Given the description of an element on the screen output the (x, y) to click on. 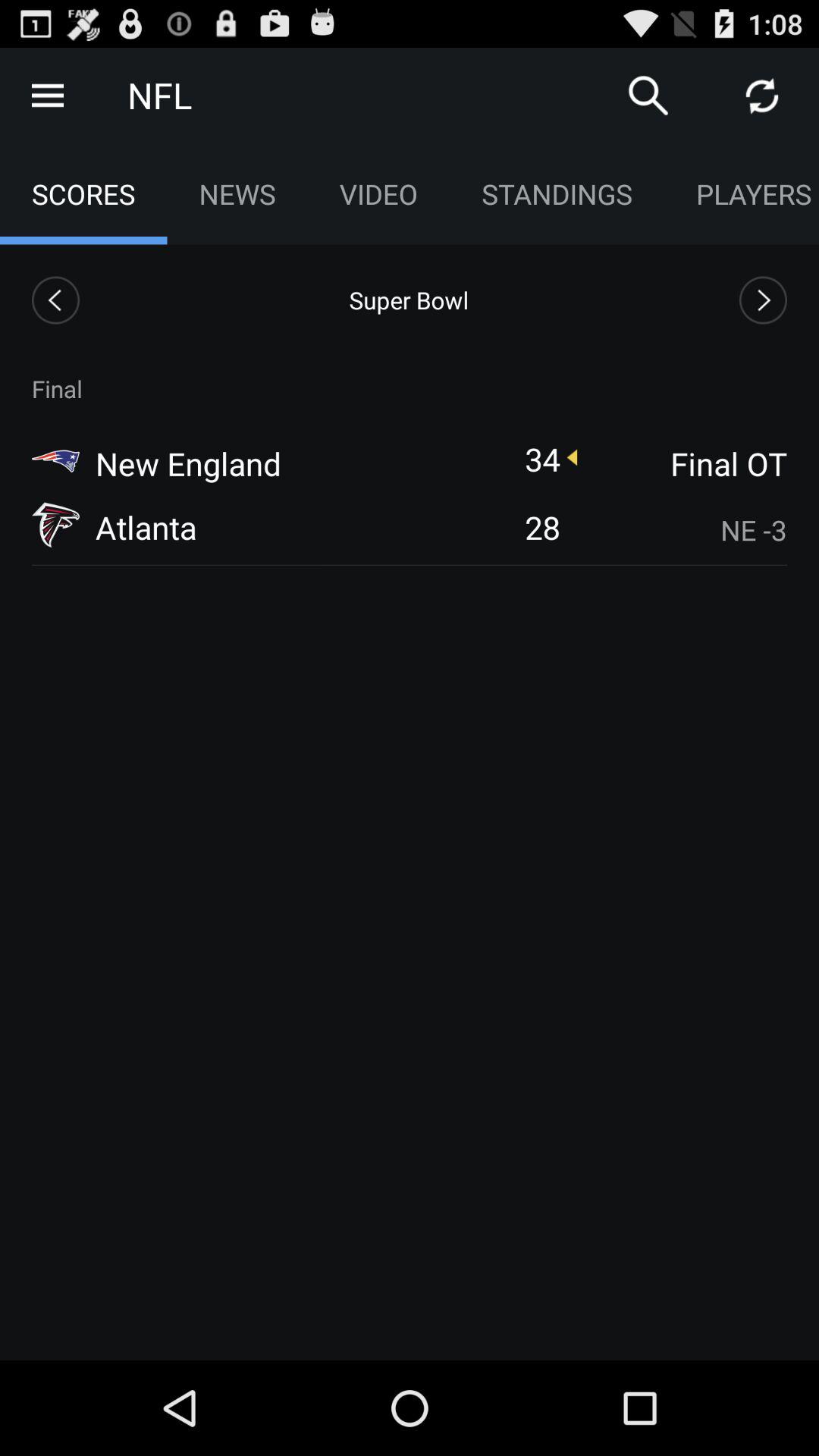
open menu (47, 95)
